Given the description of an element on the screen output the (x, y) to click on. 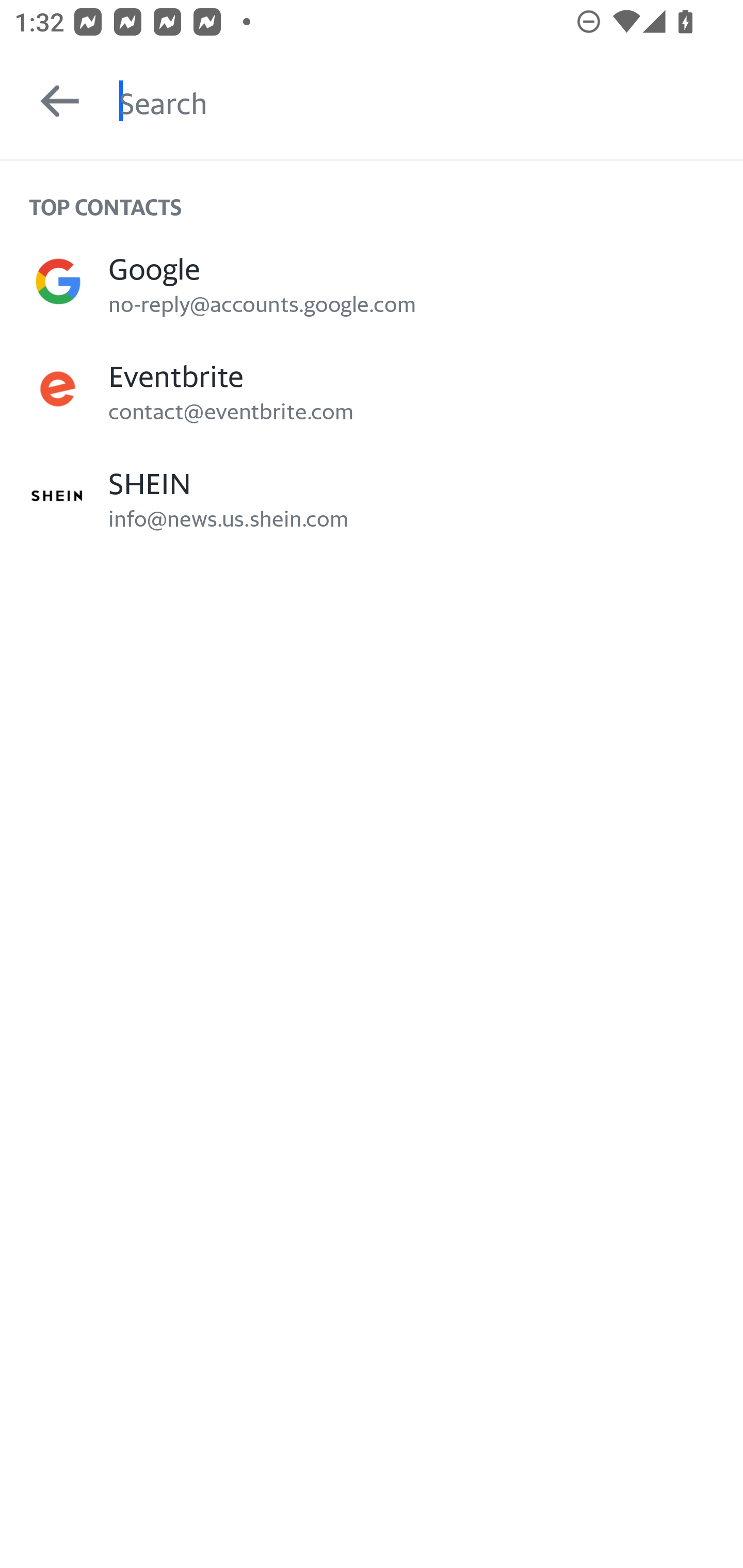
Back (50, 101)
Search (430, 101)
Top contacts Google no-reply@accounts.google.com (371, 281)
Top contacts Eventbrite contact@eventbrite.com (371, 388)
Top contacts SHEIN info@news.us.shein.com (371, 496)
